Given the description of an element on the screen output the (x, y) to click on. 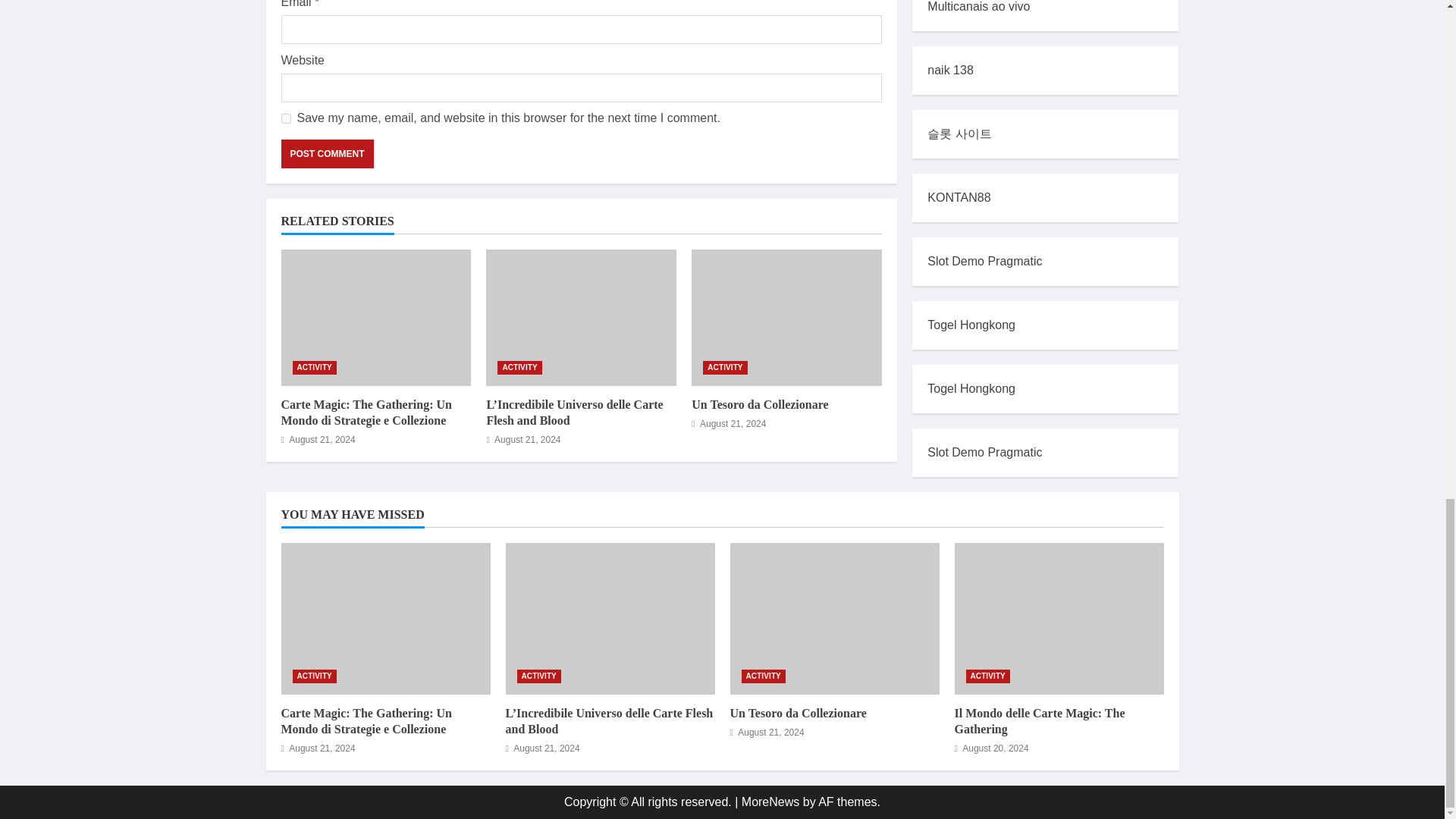
ACTIVITY (724, 367)
Post Comment (326, 153)
ACTIVITY (314, 367)
Un Tesoro da Collezionare (759, 404)
Post Comment (326, 153)
yes (285, 118)
ACTIVITY (519, 367)
Un Tesoro da Collezionare (786, 317)
